Given the description of an element on the screen output the (x, y) to click on. 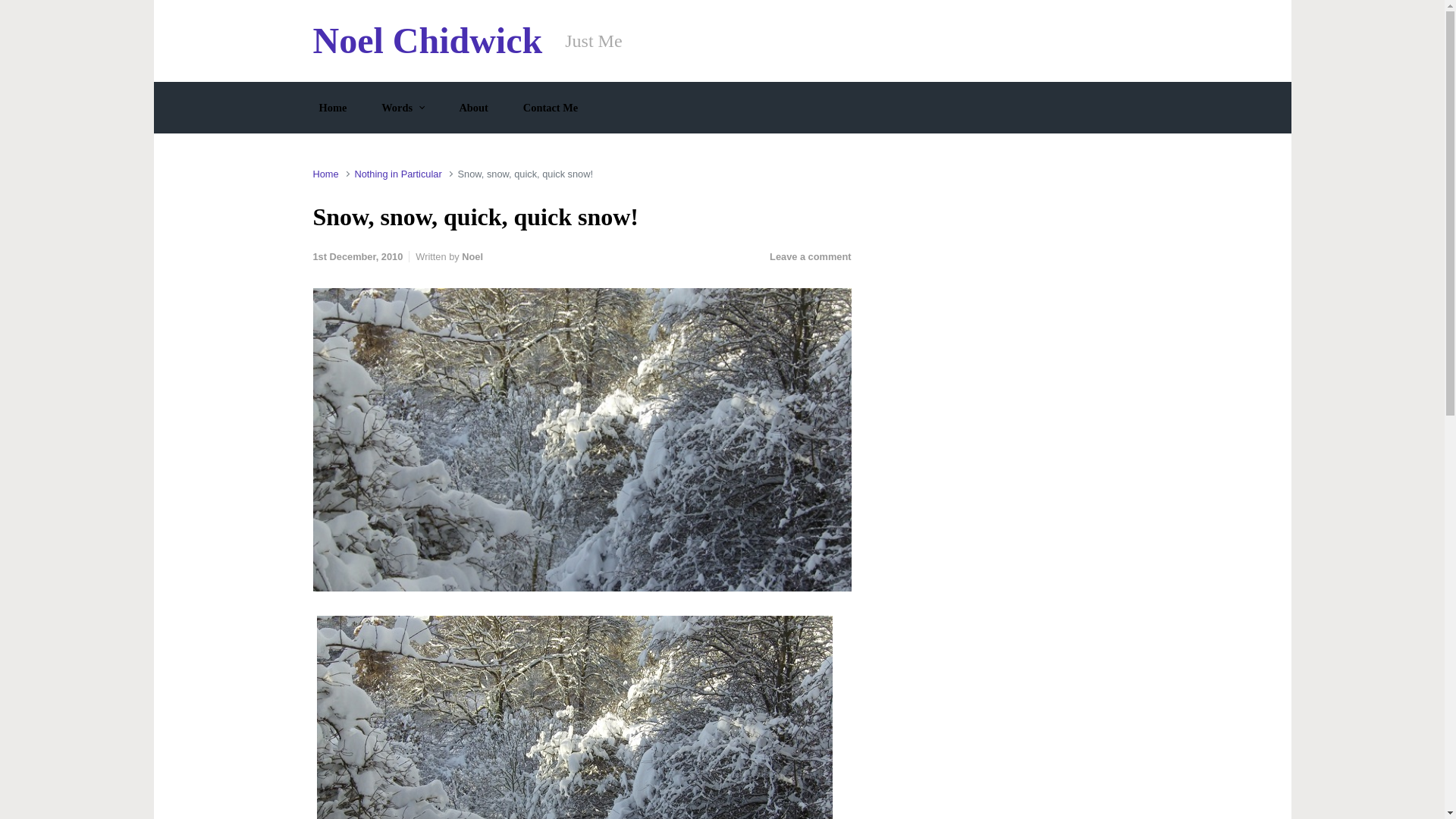
Home (332, 107)
Leave a comment (810, 256)
Noel Chidwick (427, 40)
Home (325, 173)
Noel (472, 256)
Nothing in Particular (397, 173)
Words (402, 107)
Nothing in Particular (397, 173)
Snow (574, 717)
View all posts by Noel (472, 256)
